Given the description of an element on the screen output the (x, y) to click on. 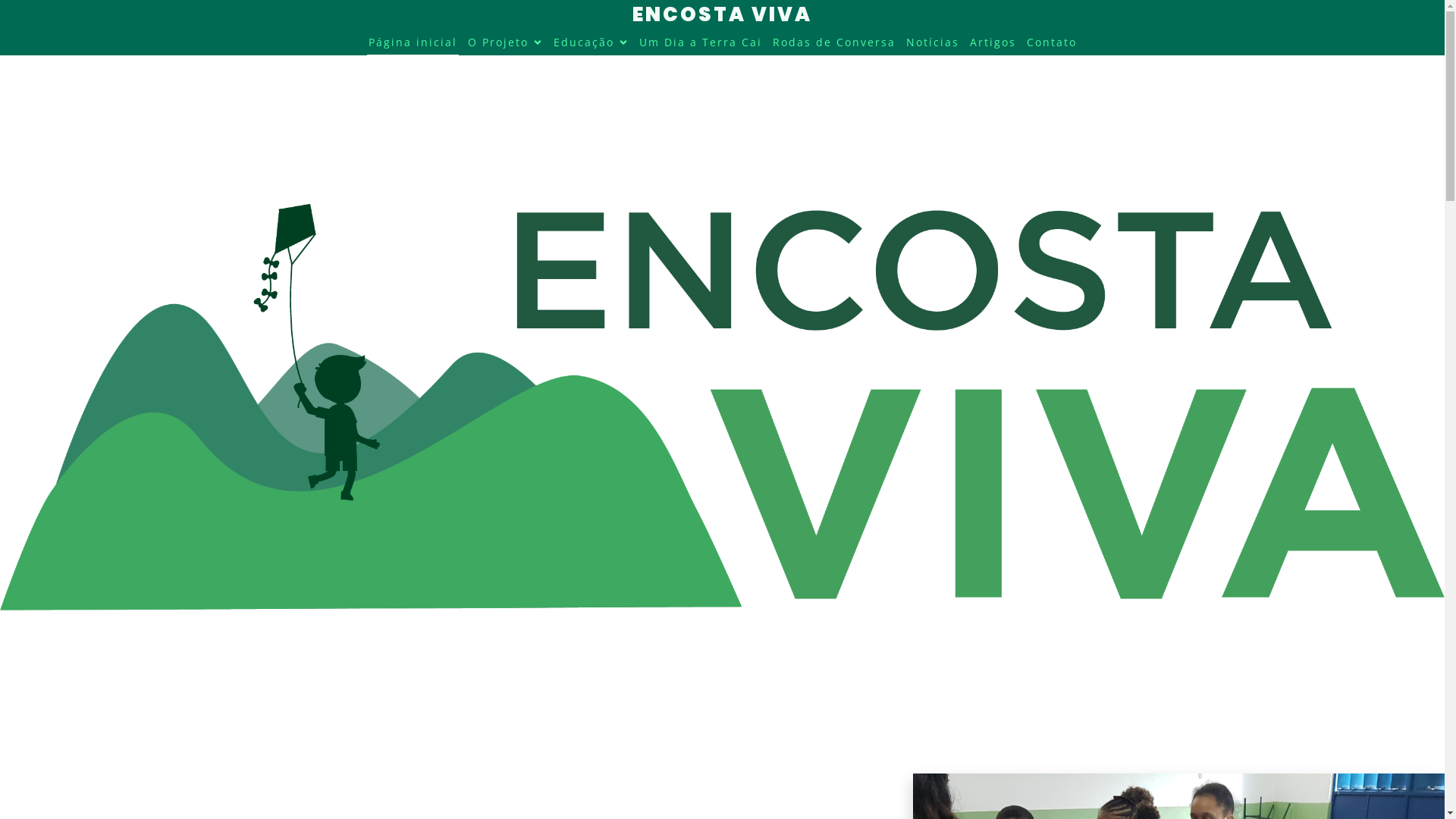
Um Dia a Terra Cai Element type: text (699, 42)
ENCOSTA VIVA Element type: text (722, 14)
Artigos Element type: text (991, 42)
Rodas de Conversa Element type: text (833, 42)
O Projeto Element type: text (504, 42)
Contato Element type: text (1051, 42)
